Given the description of an element on the screen output the (x, y) to click on. 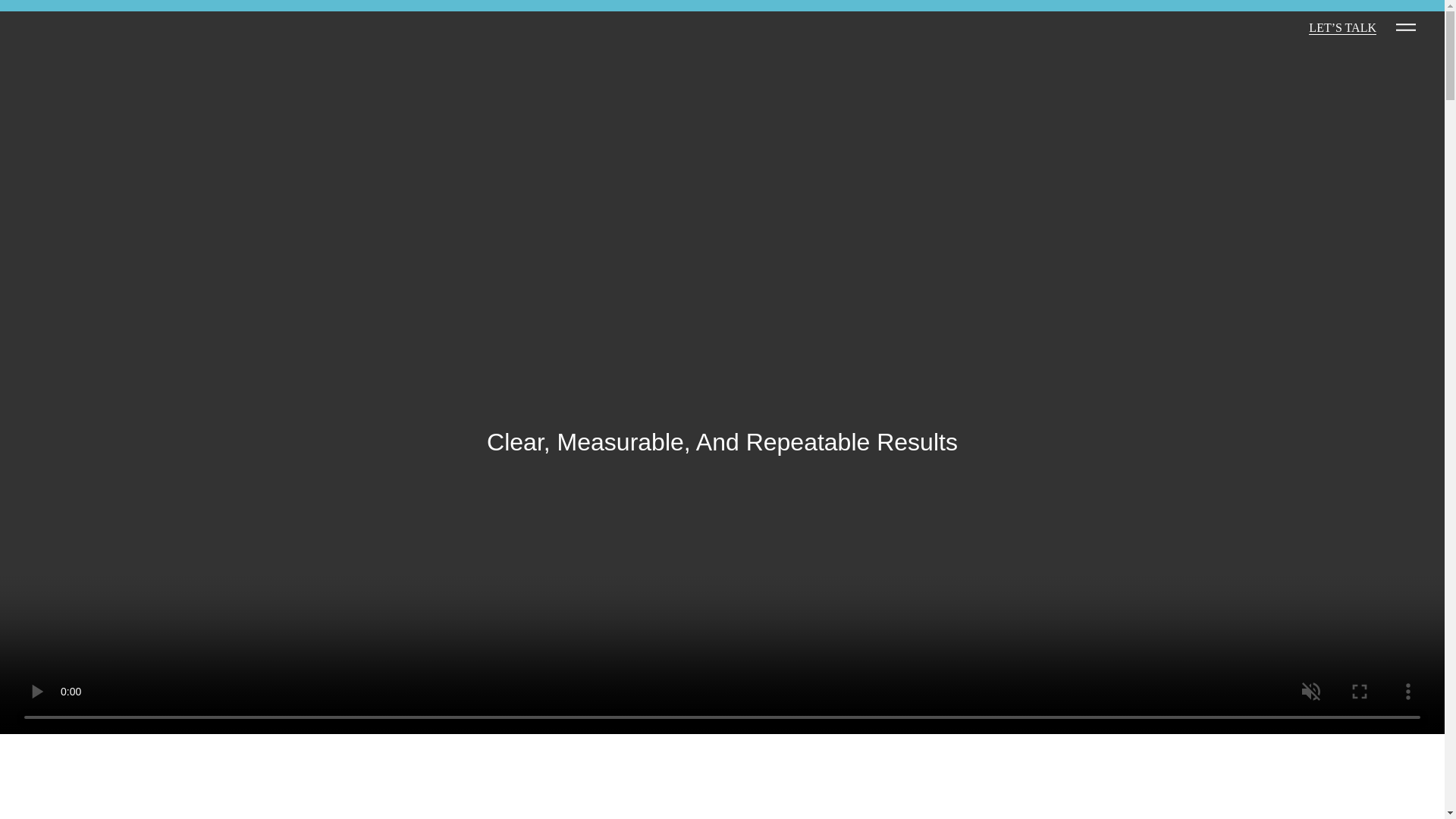
Direct Results (125, 48)
